Given the description of an element on the screen output the (x, y) to click on. 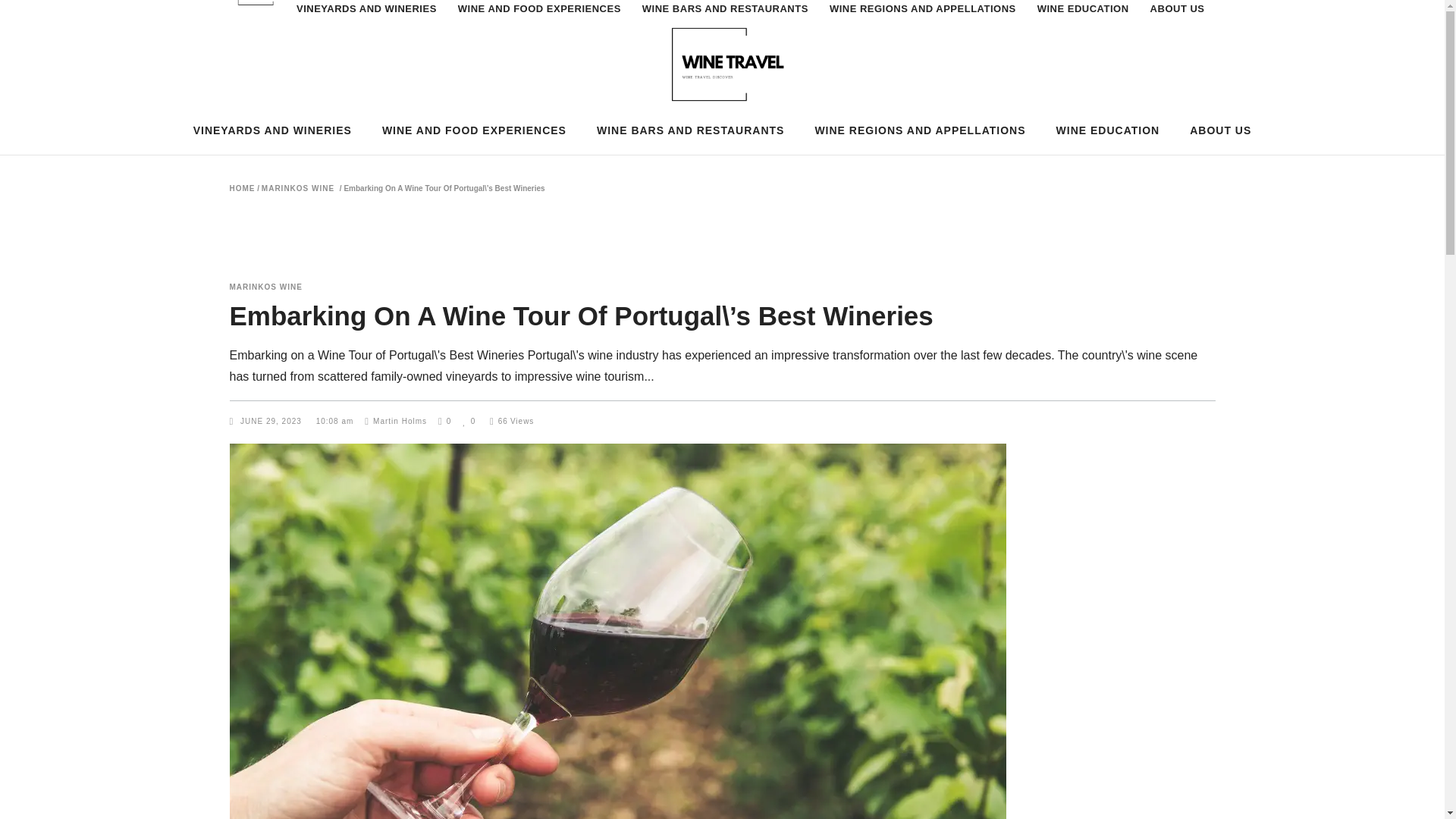
HOME (241, 188)
Like this (469, 420)
ABOUT US (1177, 21)
WINE BARS AND RESTAURANTS (689, 130)
Martin Holms (395, 420)
WINE BARS AND RESTAURANTS (724, 21)
0 (444, 420)
VINEYARDS AND WINERIES (365, 21)
0 (469, 420)
VINEYARDS AND WINERIES (271, 130)
WINE EDUCATION (1083, 21)
MARINKOS WINE (298, 188)
MARINKOS WINE (264, 286)
ABOUT US (1220, 130)
WINE AND FOOD EXPERIENCES (538, 21)
